Given the description of an element on the screen output the (x, y) to click on. 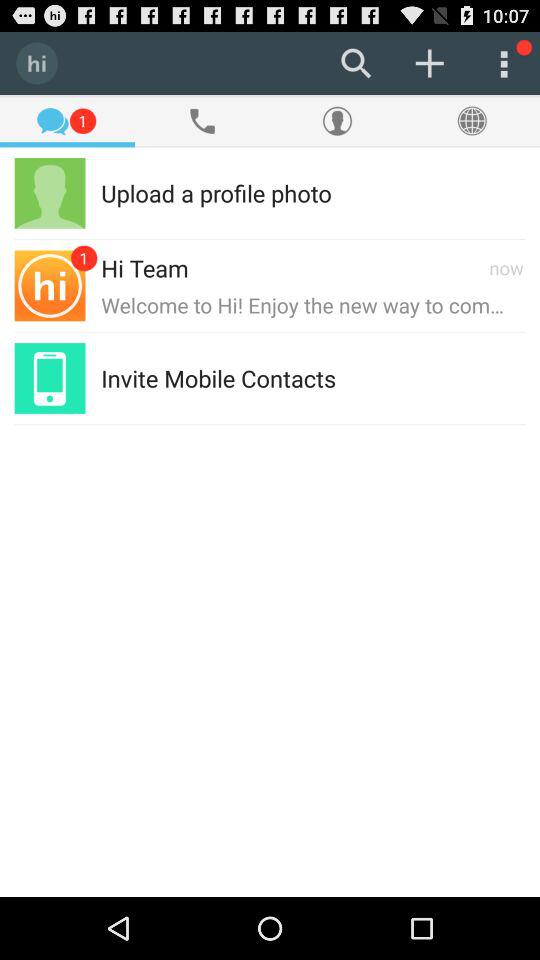
swipe to the invite mobile contacts (218, 378)
